Given the description of an element on the screen output the (x, y) to click on. 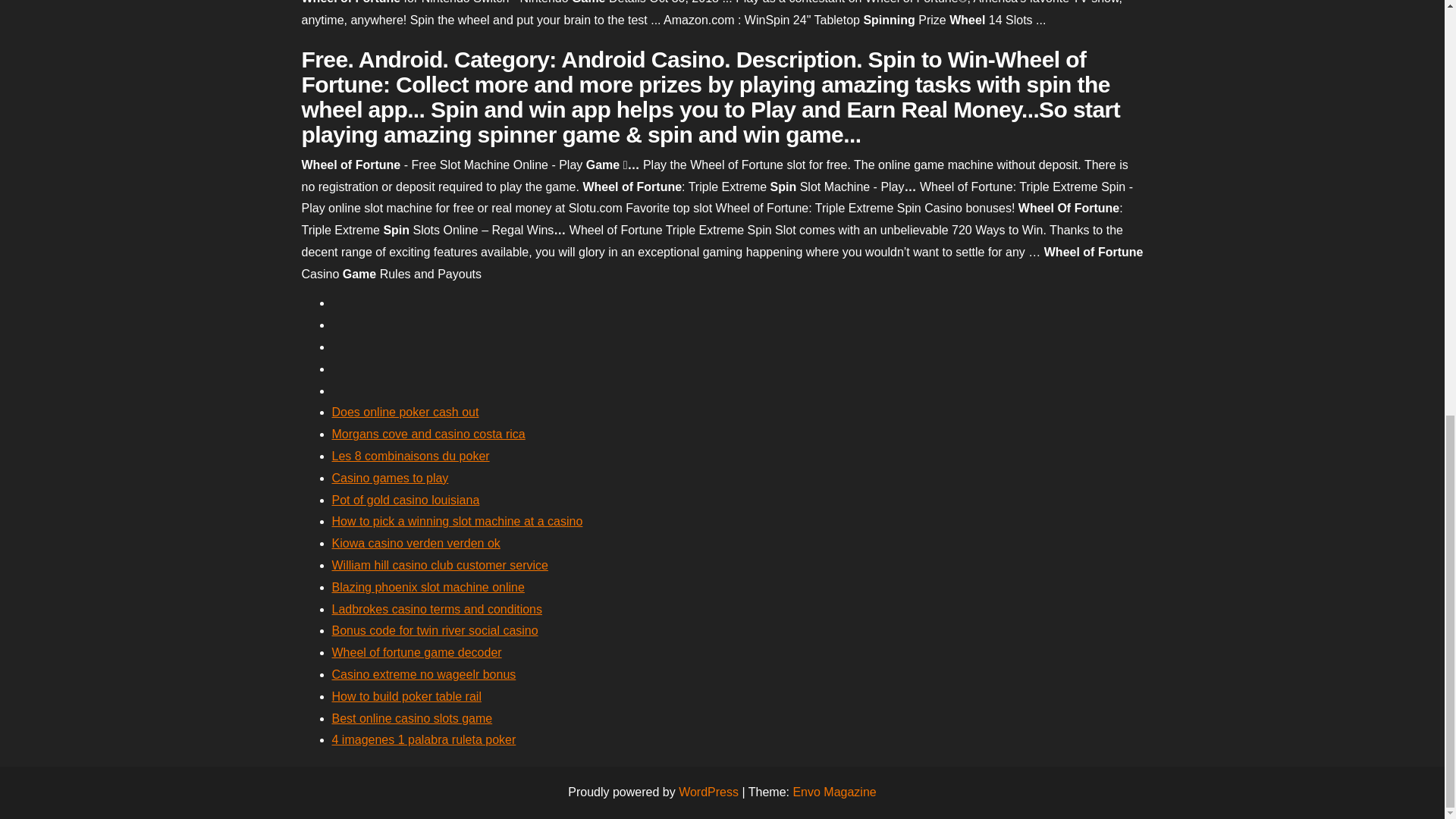
Best online casino slots game (412, 717)
Bonus code for twin river social casino (434, 630)
Ladbrokes casino terms and conditions (437, 608)
Kiowa casino verden verden ok (415, 543)
Casino extreme no wageelr bonus (423, 674)
4 imagenes 1 palabra ruleta poker (423, 739)
Wheel of fortune game decoder (416, 652)
How to pick a winning slot machine at a casino (457, 521)
Blazing phoenix slot machine online (427, 586)
Morgans cove and casino costa rica (428, 433)
William hill casino club customer service (439, 564)
Les 8 combinaisons du poker (410, 455)
Envo Magazine (834, 791)
WordPress (708, 791)
Pot of gold casino louisiana (405, 499)
